Given the description of an element on the screen output the (x, y) to click on. 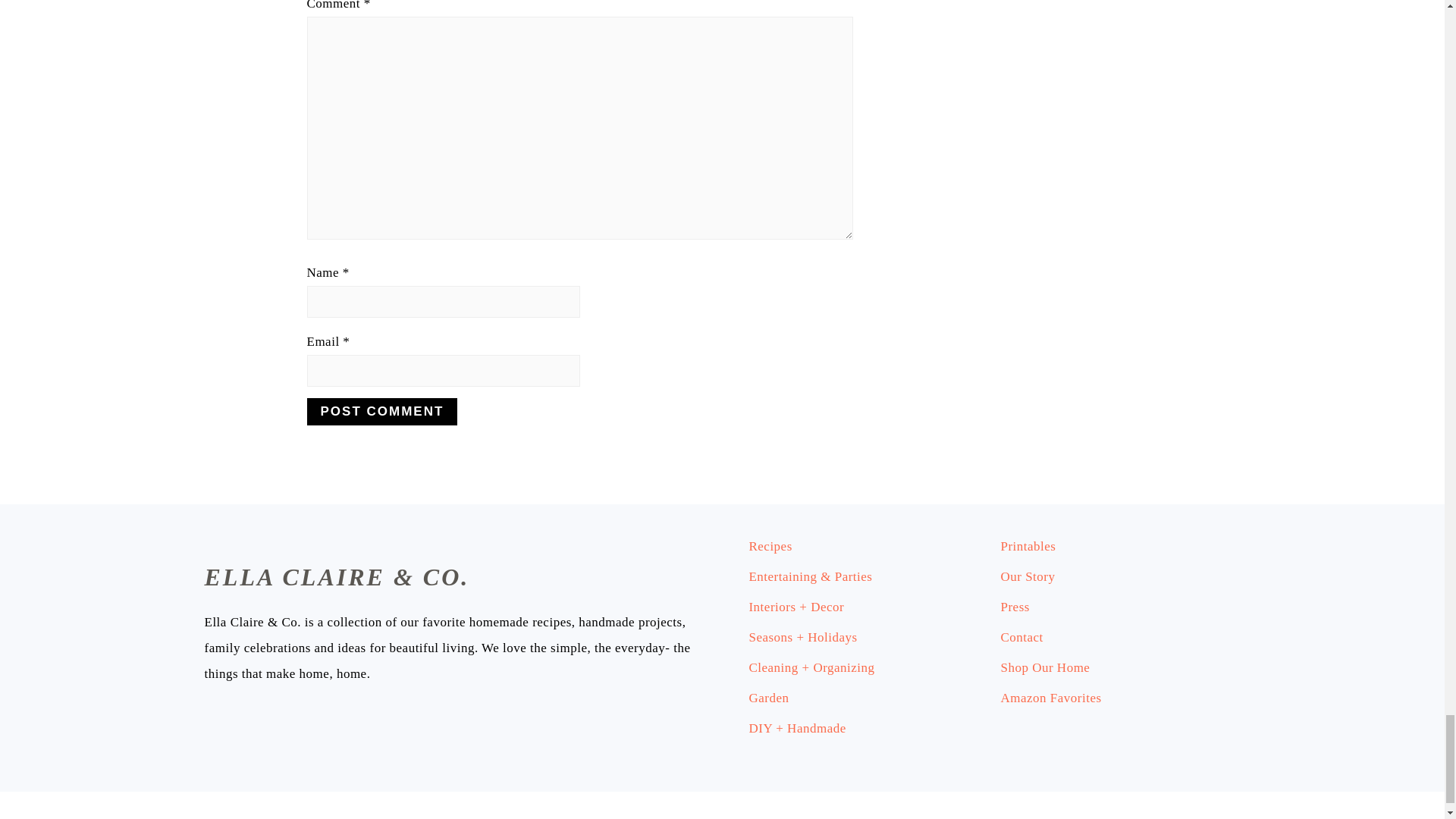
Post Comment (381, 411)
